Given the description of an element on the screen output the (x, y) to click on. 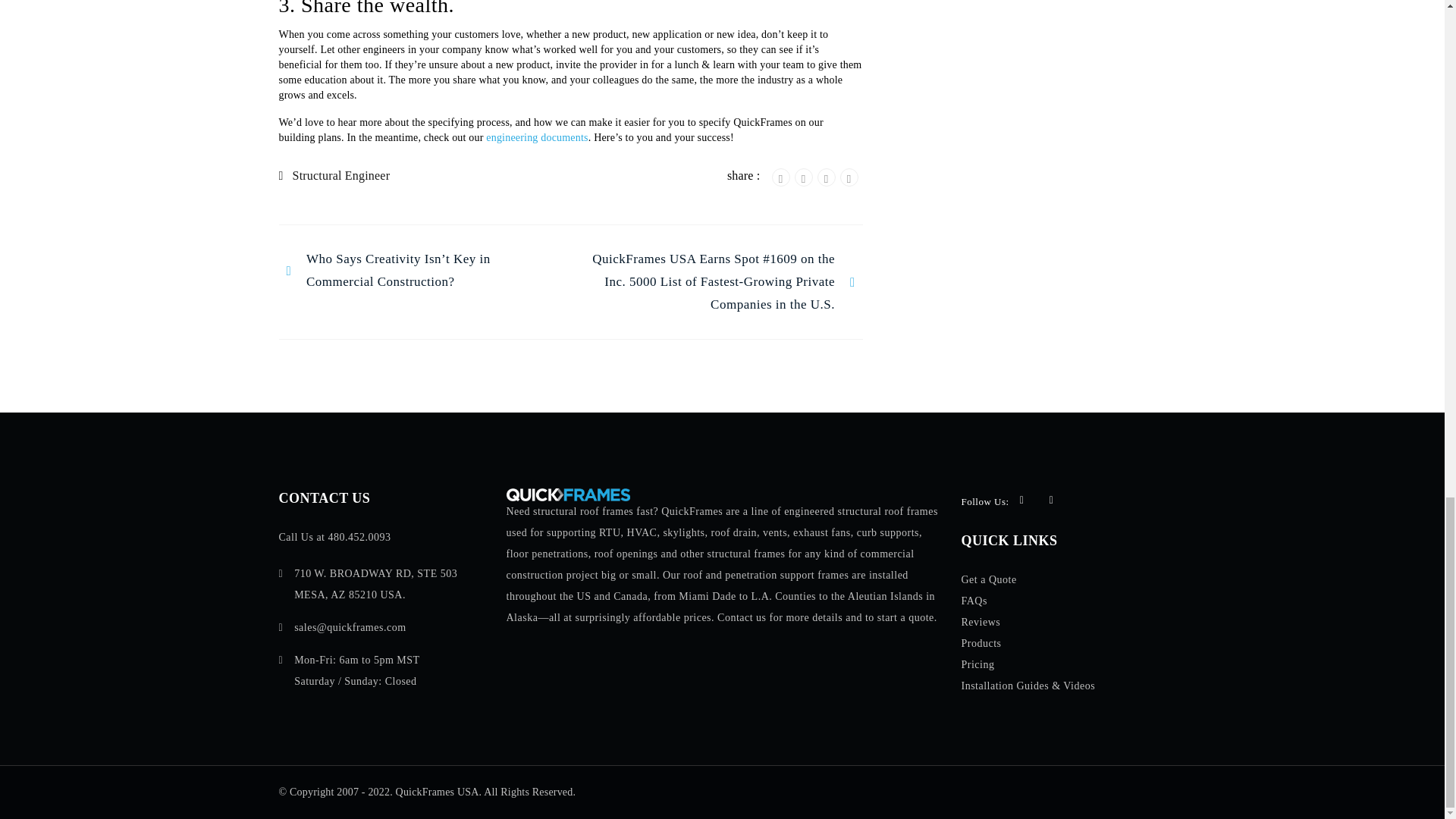
Click to send this page to Twitter! (803, 177)
